Given the description of an element on the screen output the (x, y) to click on. 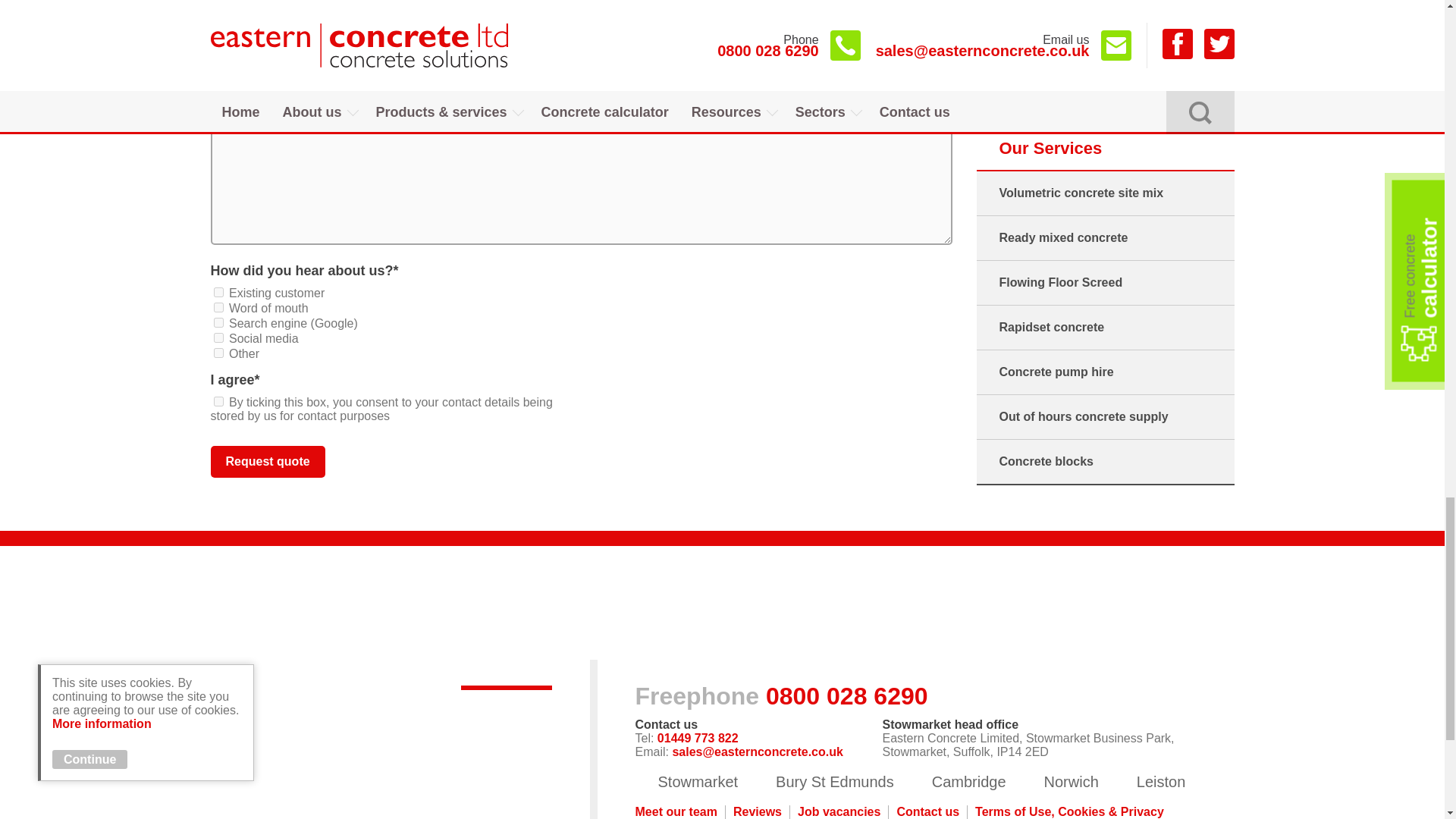
Request quote (267, 461)
Social media (219, 337)
Existing customer (219, 292)
Other (219, 352)
Word of mouth (219, 307)
